Given the description of an element on the screen output the (x, y) to click on. 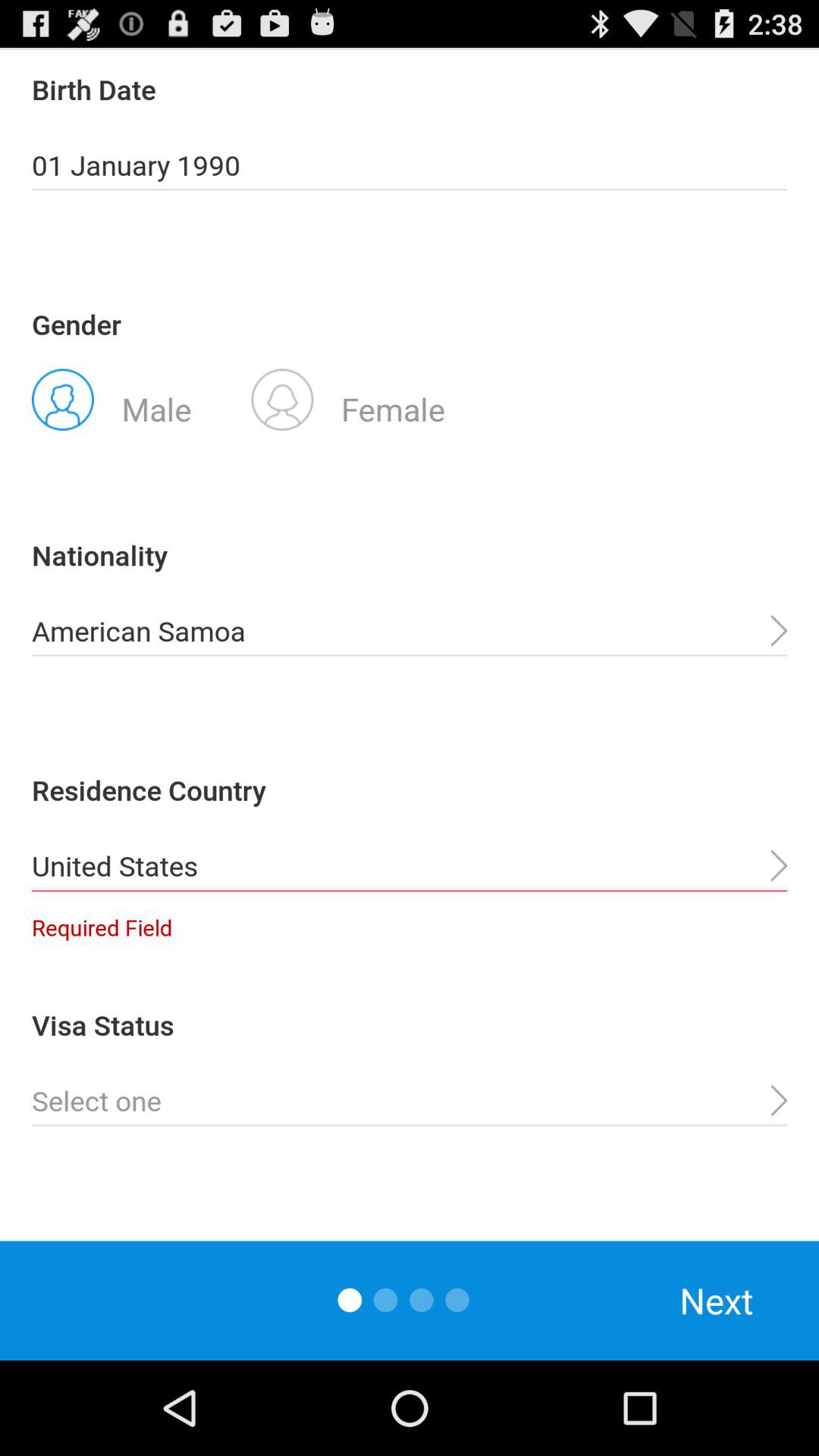
scroll to the female (348, 398)
